Given the description of an element on the screen output the (x, y) to click on. 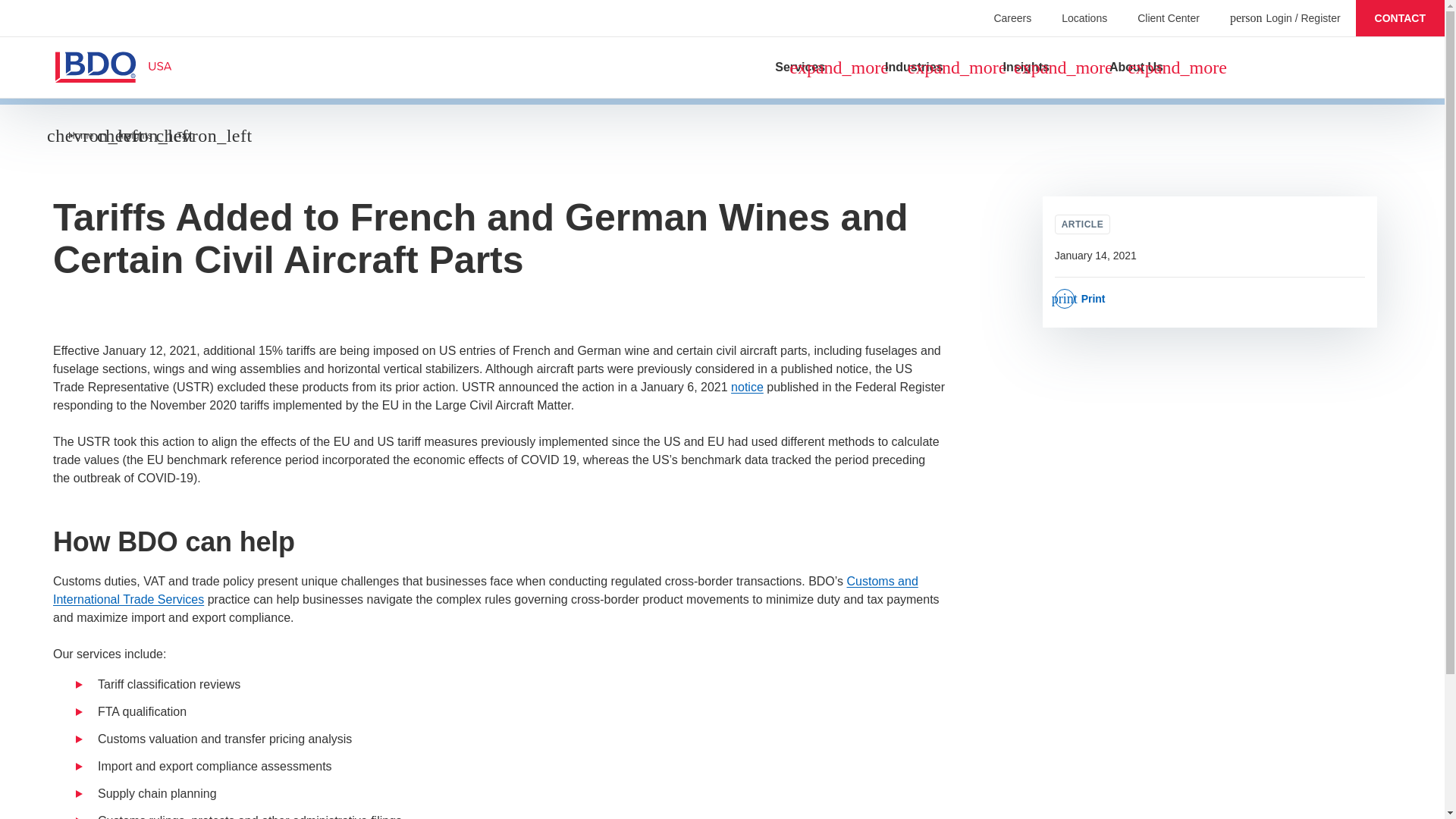
Home (81, 135)
Tax (184, 135)
Careers (1011, 18)
Client Center (1168, 18)
Locations (1083, 18)
BDO.General.Home (89, 66)
Insights (134, 135)
